Given the description of an element on the screen output the (x, y) to click on. 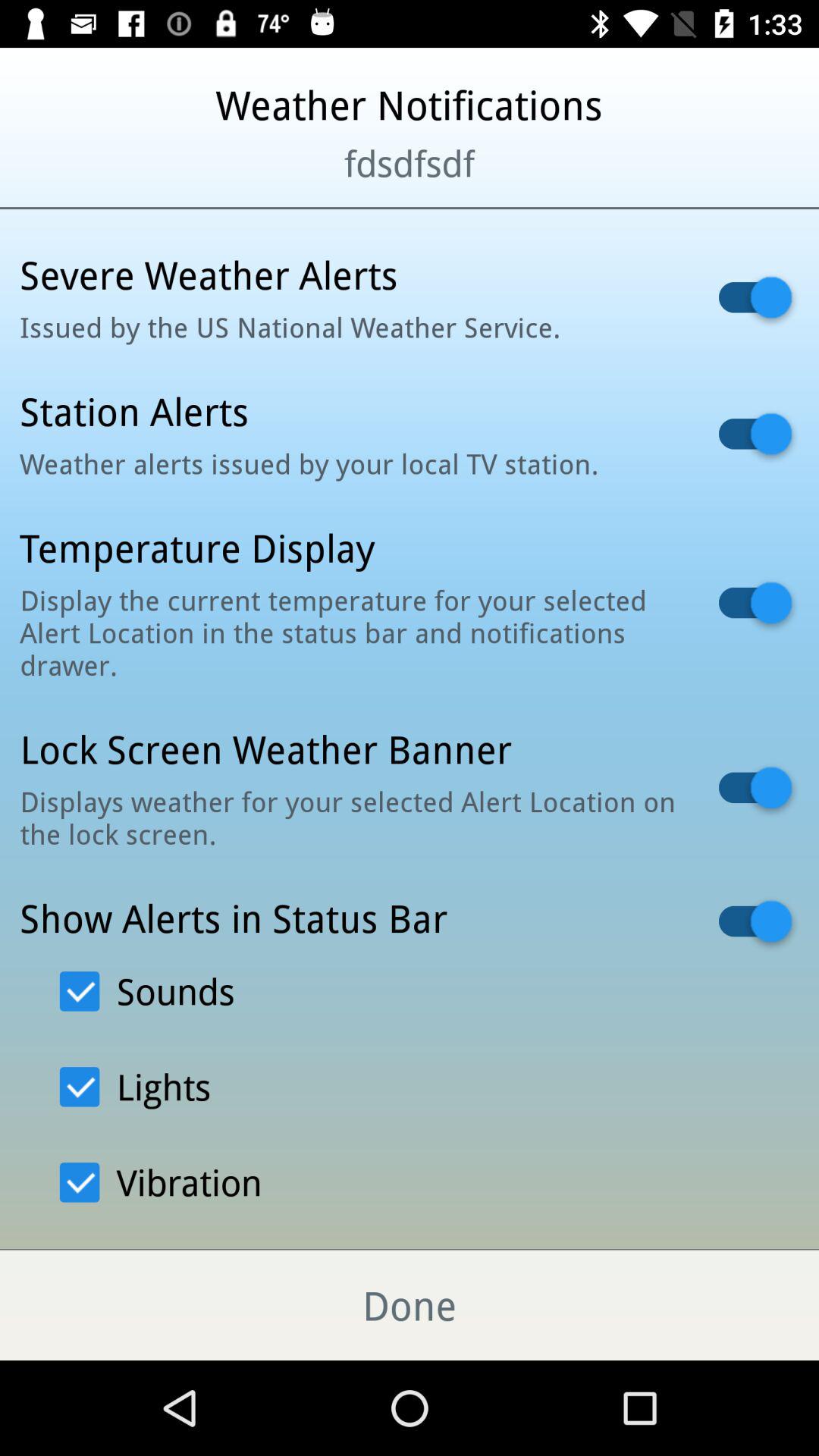
press item above the lock screen weather icon (349, 632)
